Given the description of an element on the screen output the (x, y) to click on. 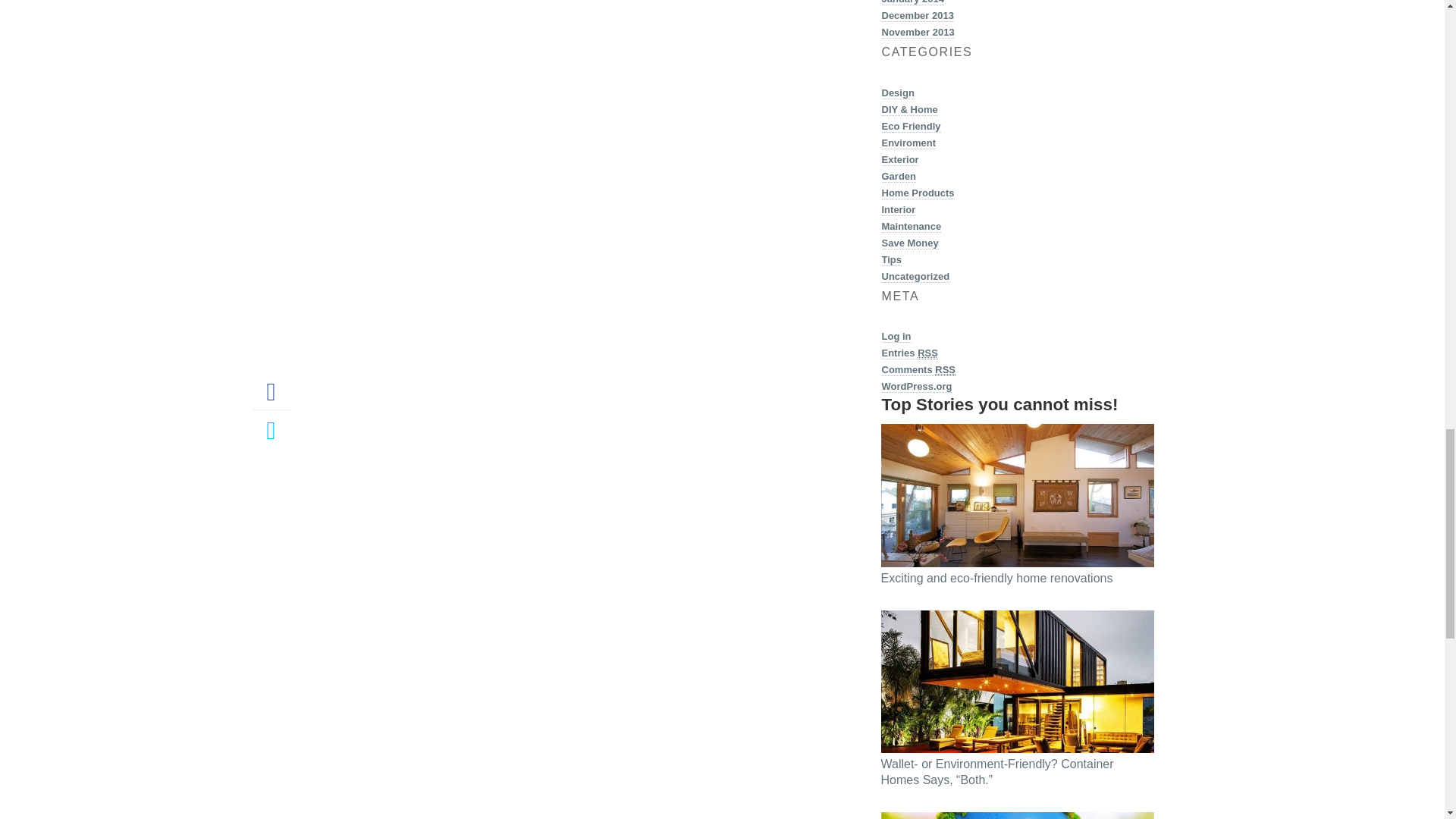
Really Simple Syndication (927, 353)
Really Simple Syndication (944, 369)
